Given the description of an element on the screen output the (x, y) to click on. 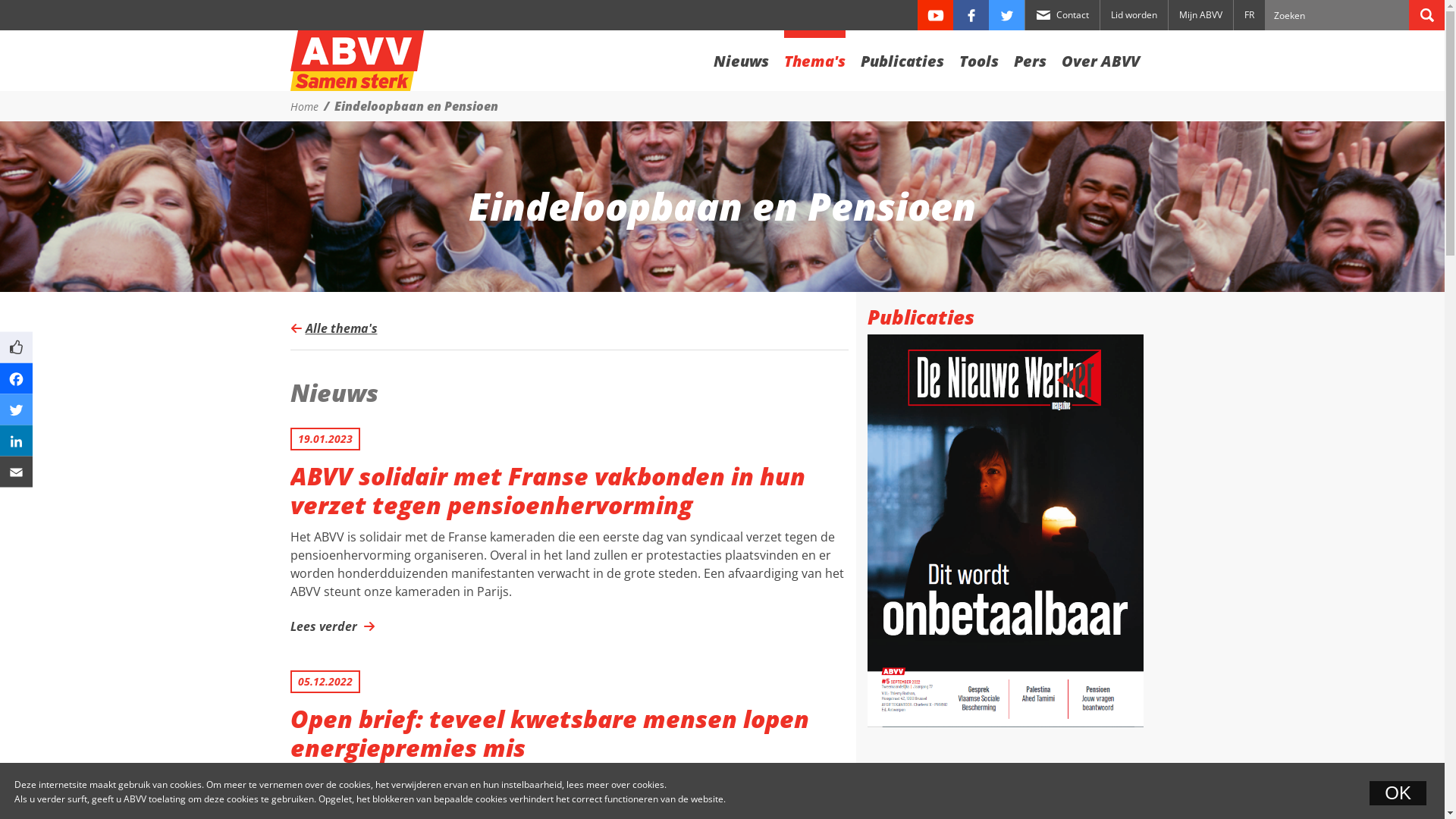
Publicaties Element type: text (901, 57)
Home Element type: text (303, 106)
Contact Element type: text (1062, 15)
Thema's Element type: text (814, 57)
FR Element type: text (1248, 15)
Pers Element type: text (1029, 57)
Apply Element type: text (1426, 15)
Facebook Element type: text (970, 15)
OK Element type: text (1397, 793)
Open brief: teveel kwetsbare mensen lopen energiepremies mis Element type: text (568, 733)
Lees verder Element type: text (328, 626)
Lid worden Element type: text (1133, 15)
Twitter Element type: text (1006, 15)
Youtube Element type: text (935, 15)
Alle thema's Element type: text (332, 328)
Over ABVV Element type: text (1100, 57)
Mijn ABVV Element type: text (1200, 15)
lees meer over cookies Element type: text (615, 784)
Tools Element type: text (977, 57)
Home Element type: hover (356, 60)
Nieuws Element type: text (740, 57)
